Given the description of an element on the screen output the (x, y) to click on. 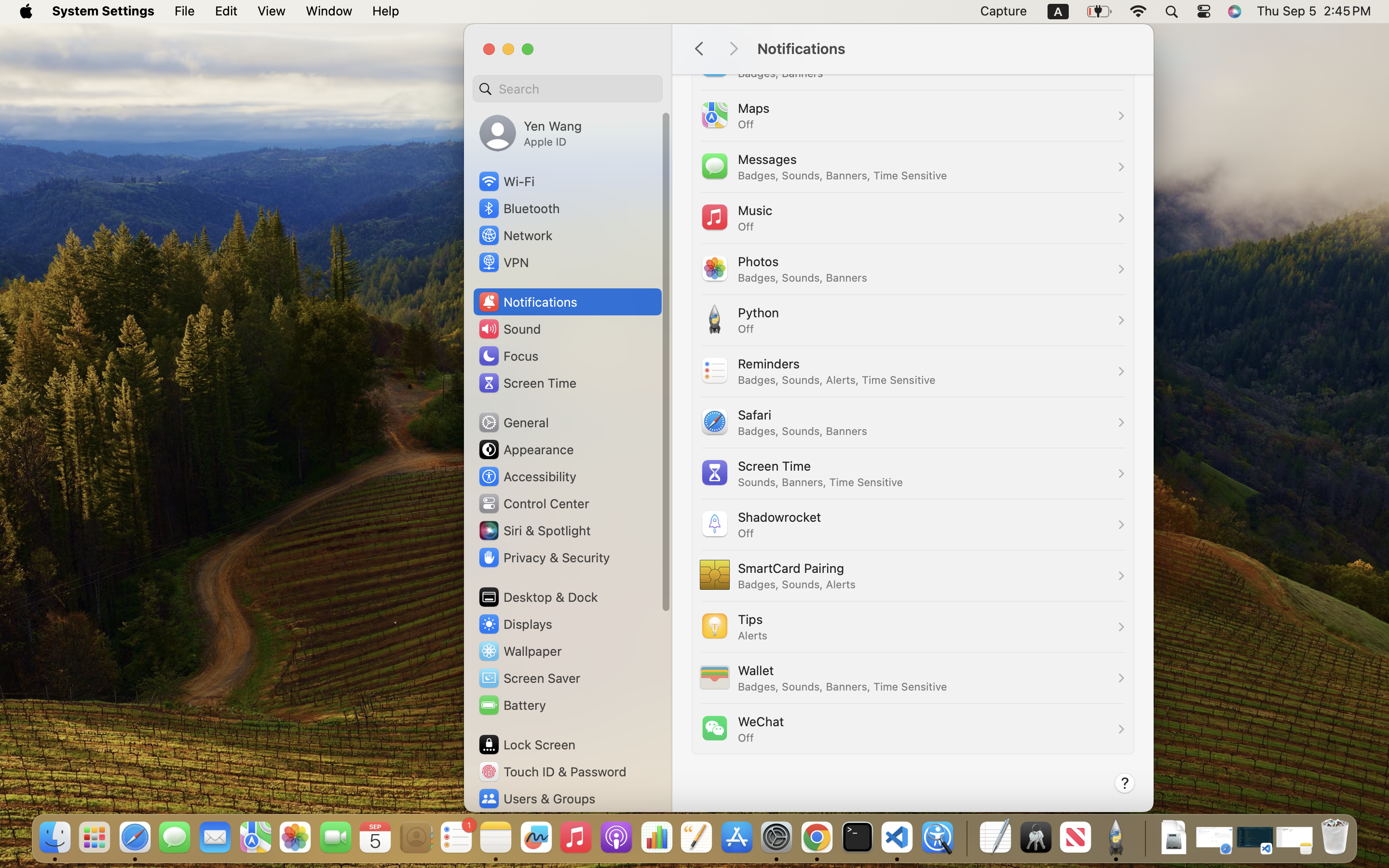
Focus Element type: AXStaticText (507, 355)
Appearance Element type: AXStaticText (525, 449)
Users & Groups Element type: AXStaticText (536, 798)
Wi‑Fi Element type: AXStaticText (505, 180)
0.4285714328289032 Element type: AXDockItem (965, 837)
